Given the description of an element on the screen output the (x, y) to click on. 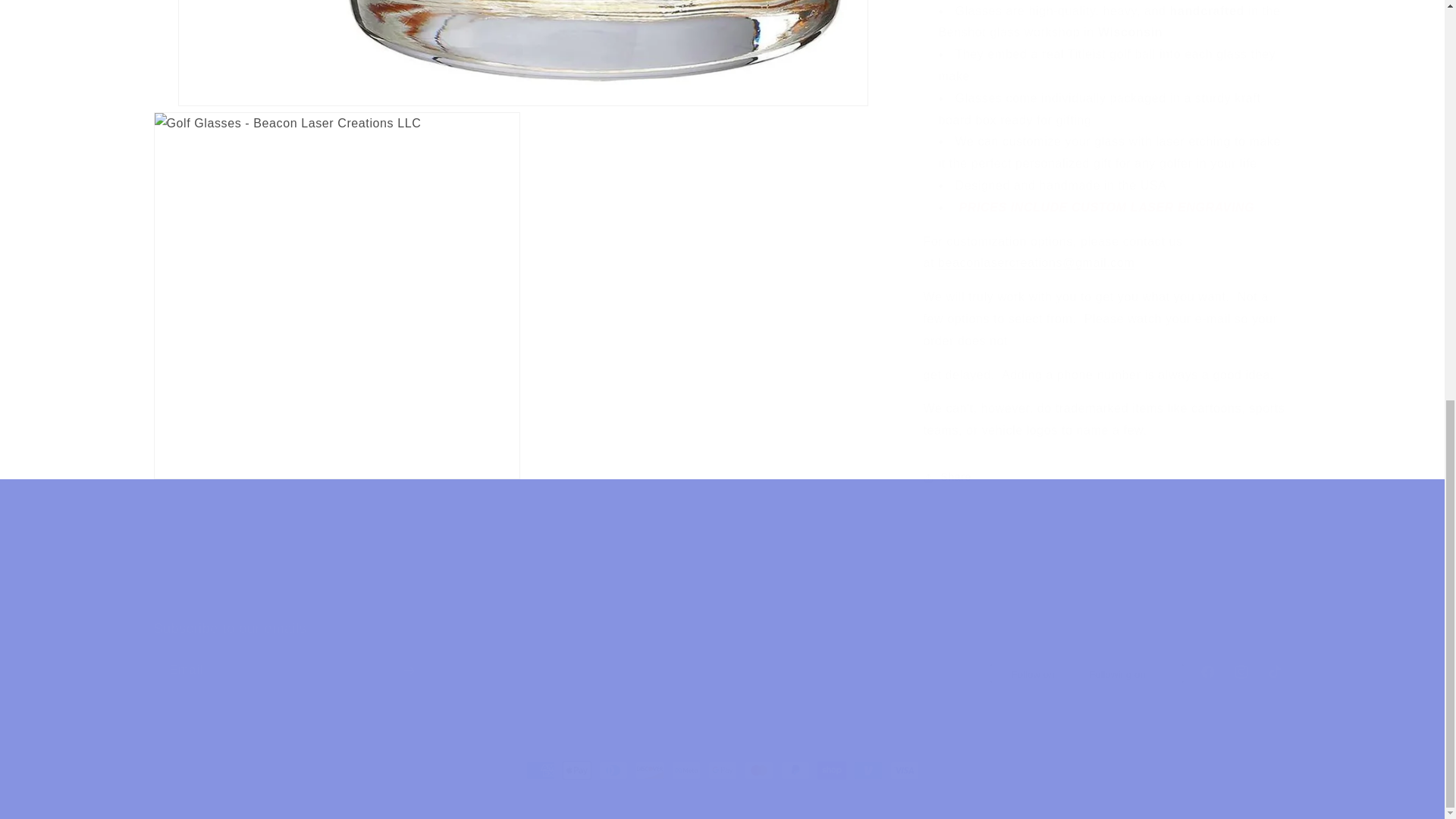
Open media 6 in modal (721, 559)
Open media 1 in modal (721, 653)
